Given the description of an element on the screen output the (x, y) to click on. 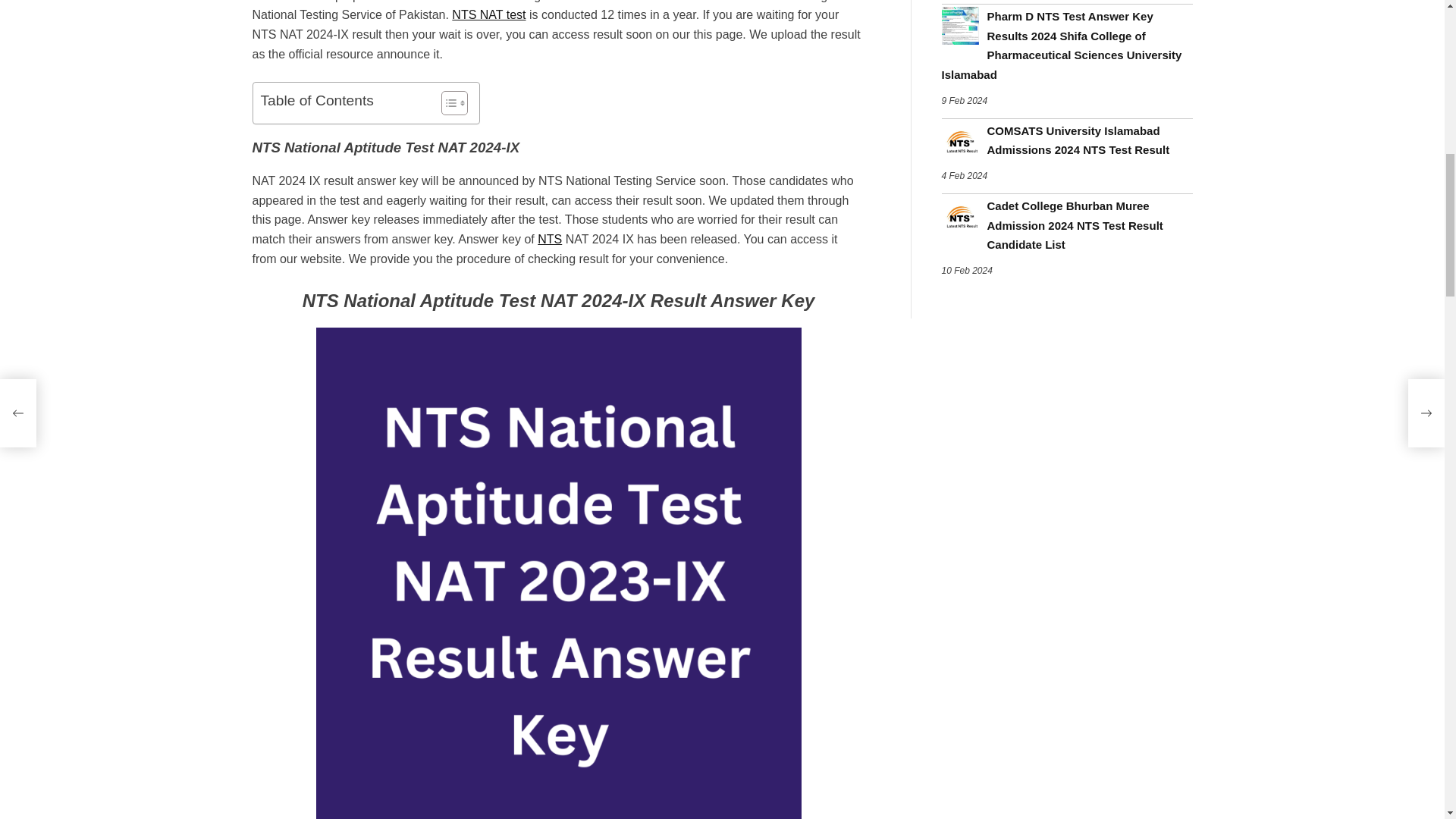
NTS NAT Test 2024 Schedule and Dates National Aptitude Test (488, 14)
